Given the description of an element on the screen output the (x, y) to click on. 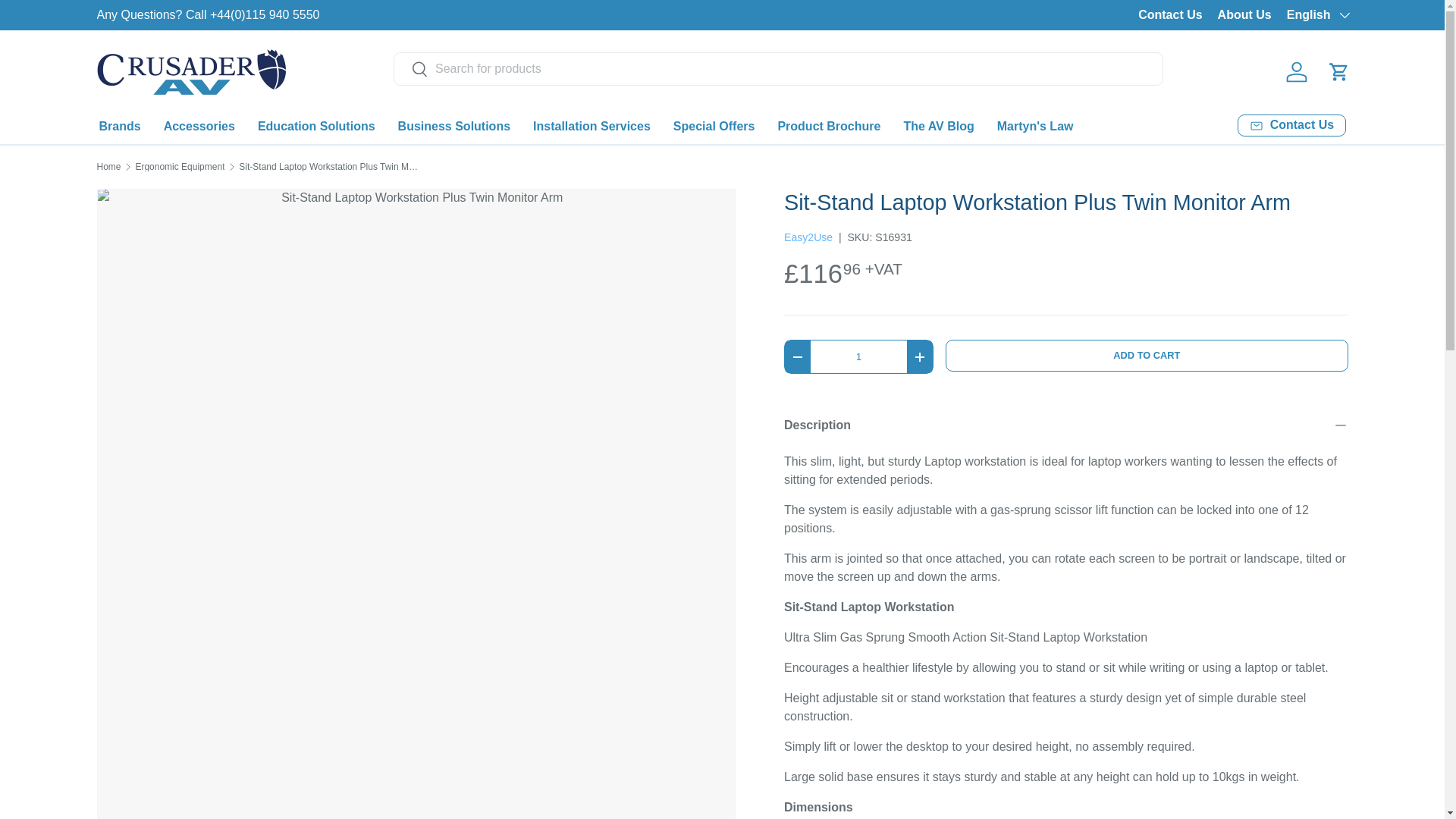
Ergonomic Equipment (179, 166)
Contact Us (1291, 125)
Easy2Use (808, 236)
Search (411, 69)
The AV Blog (938, 125)
Education Solutions (316, 125)
About Us (1280, 14)
Learn more (1280, 14)
English (1317, 14)
SKIP TO CONTENT (64, 21)
Cart (1338, 71)
Business Solutions (454, 125)
About Us (1244, 14)
Martyn's Law (1035, 125)
Special Offers (713, 125)
